Given the description of an element on the screen output the (x, y) to click on. 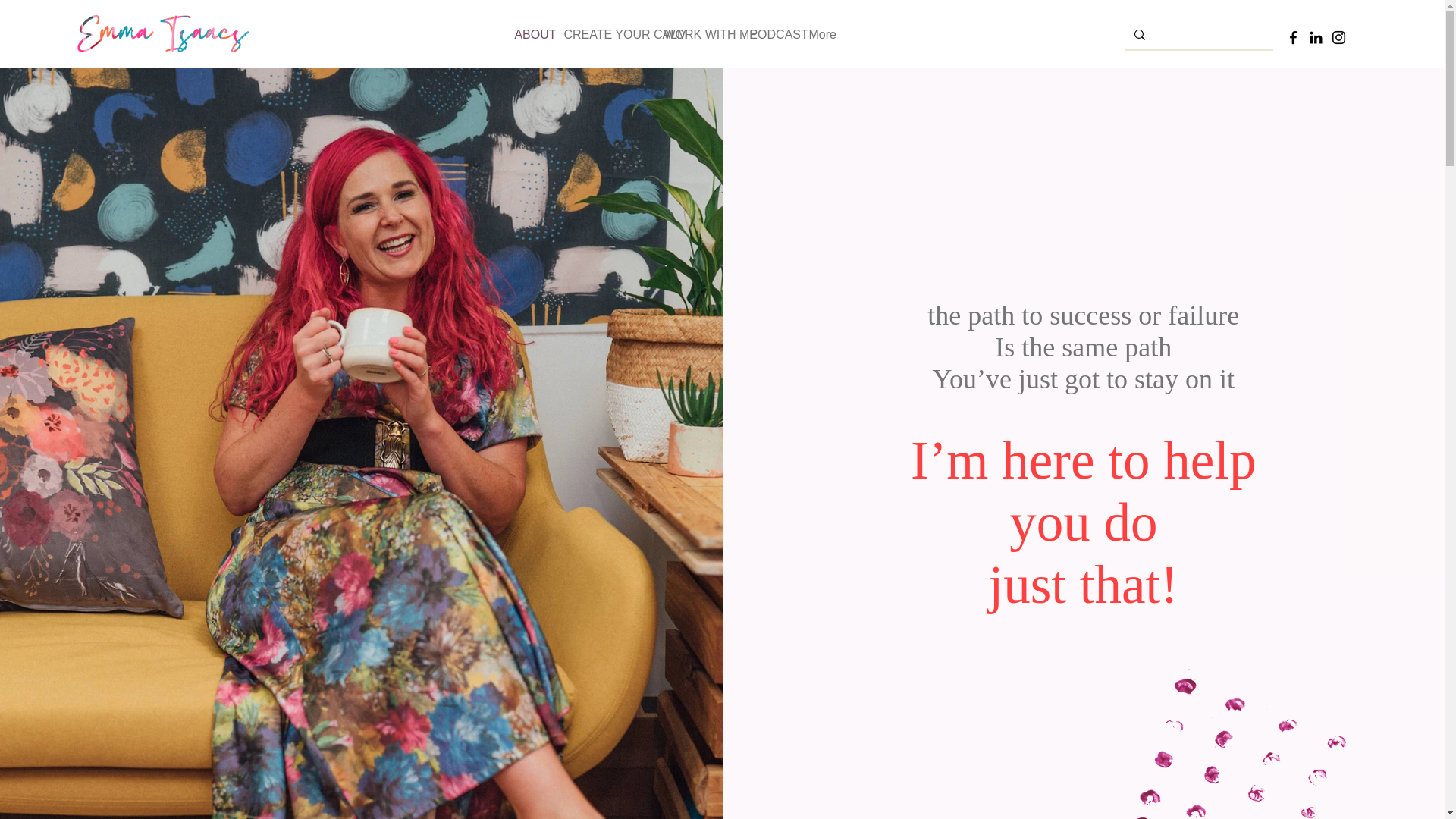
WORK WITH ME (695, 34)
CREATE YOUR CALM (601, 34)
ABOUT (526, 34)
PODCAST (767, 34)
